Given the description of an element on the screen output the (x, y) to click on. 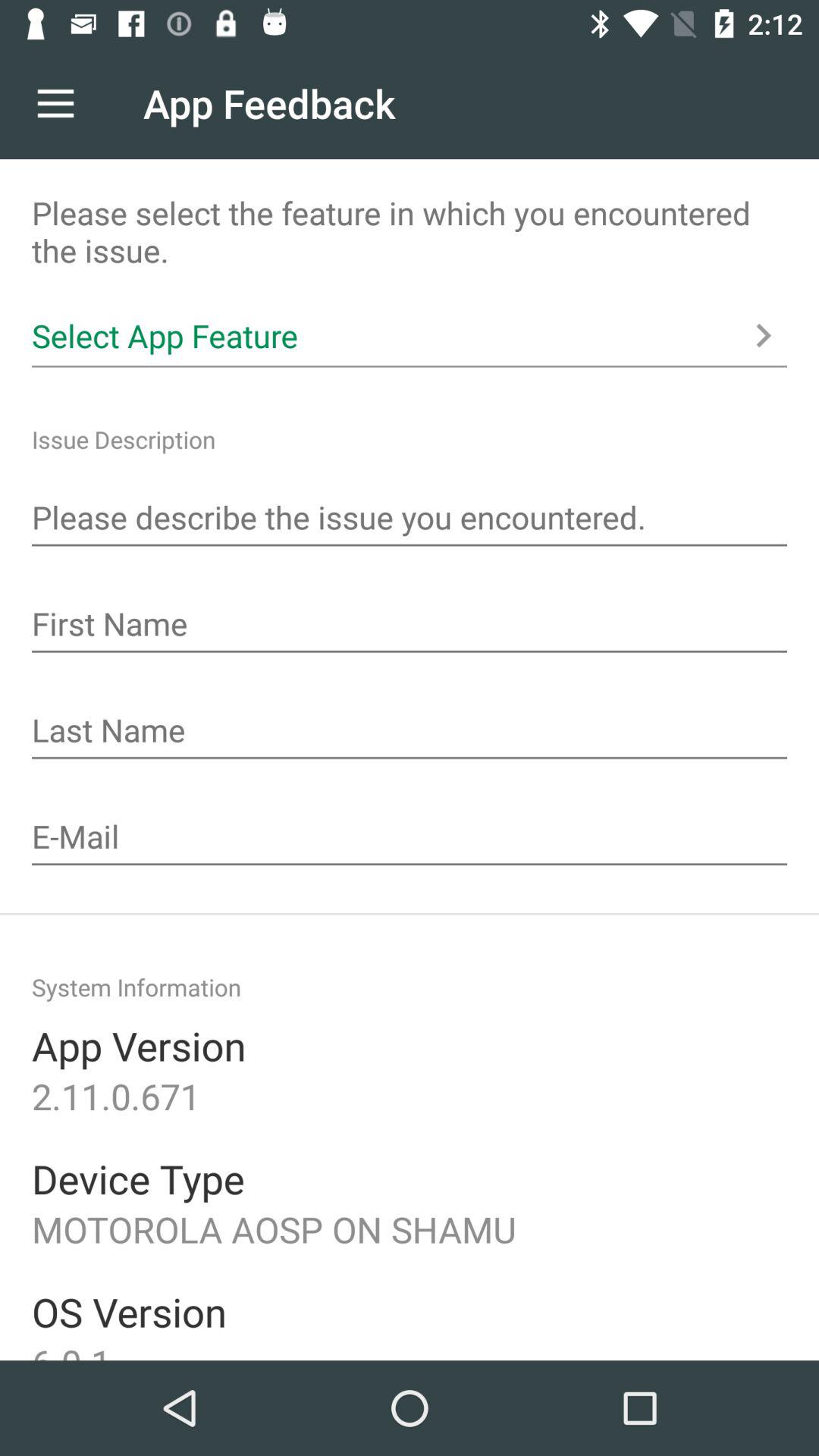
choose item next to app feedback item (55, 103)
